Given the description of an element on the screen output the (x, y) to click on. 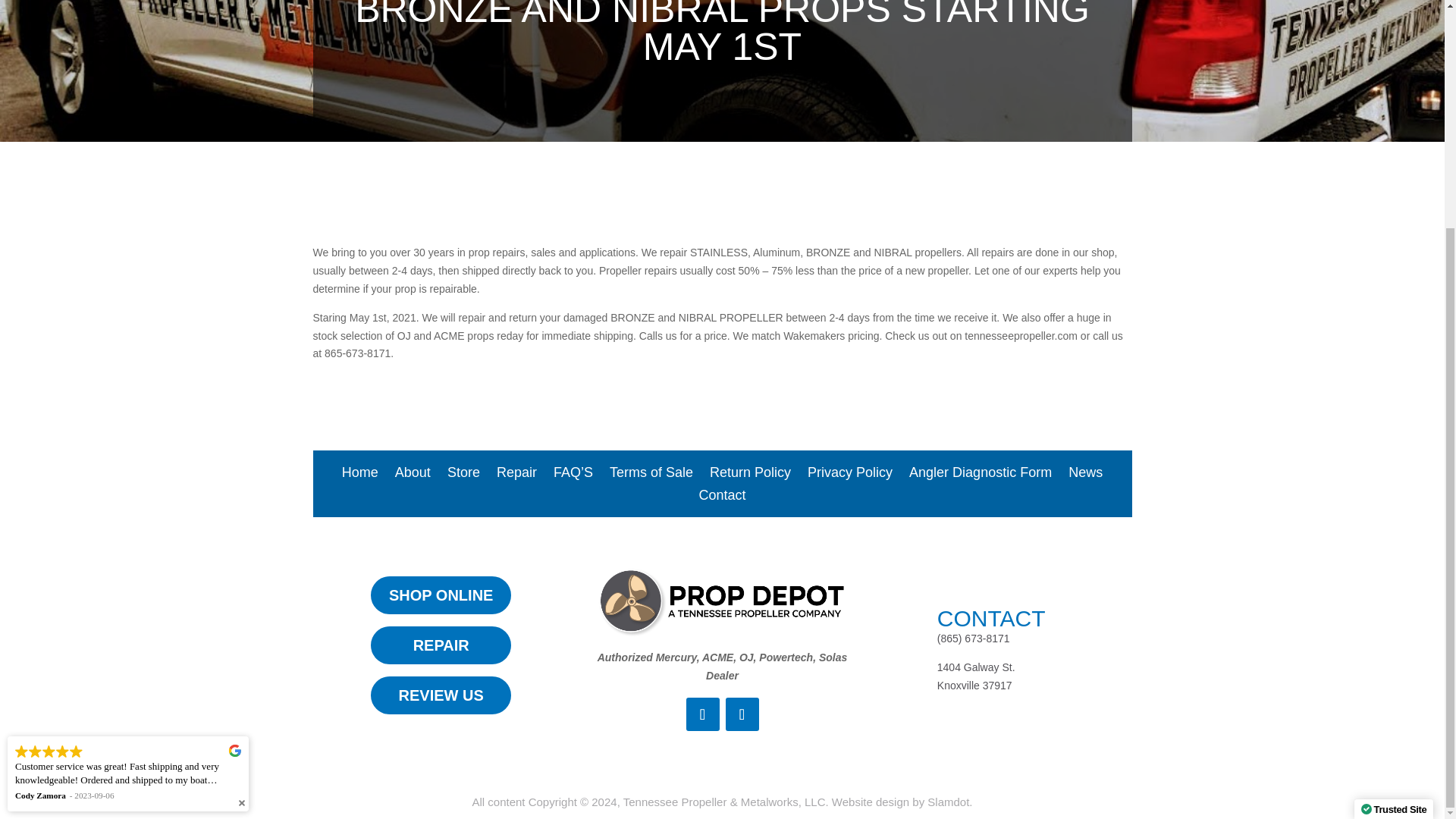
Follow on Instagram (741, 714)
Follow on Facebook (702, 714)
